Given the description of an element on the screen output the (x, y) to click on. 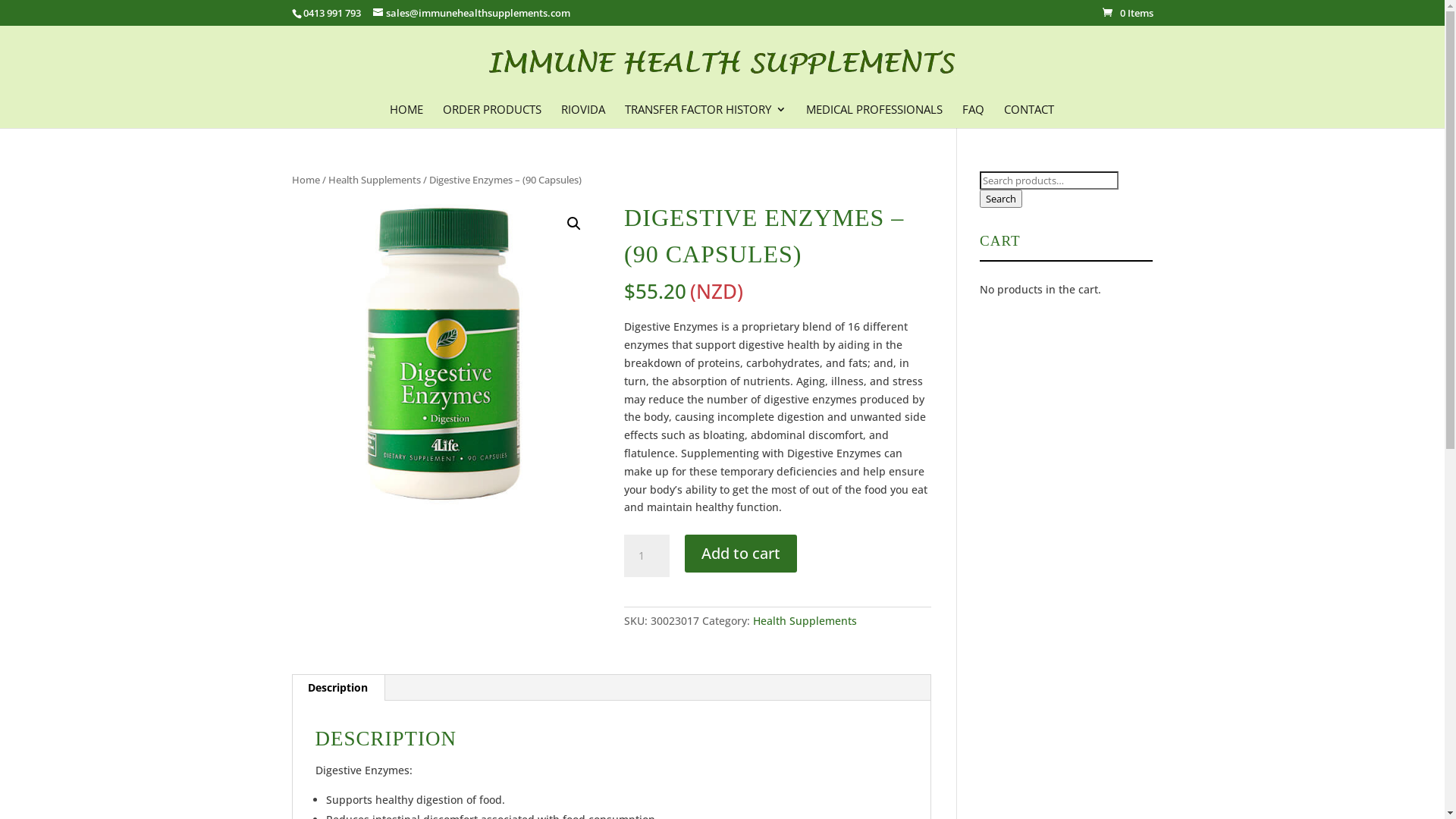
Health Supplements Element type: text (804, 620)
MEDICAL PROFESSIONALS Element type: text (873, 115)
ORDER PRODUCTS Element type: text (491, 115)
CONTACT Element type: text (1029, 115)
Search Element type: text (1000, 198)
HOME Element type: text (406, 115)
Add to cart Element type: text (740, 553)
FAQ Element type: text (972, 115)
0 Items Element type: text (1127, 12)
TRANSFER FACTOR HISTORY Element type: text (705, 115)
Health Supplements Element type: text (373, 179)
Description Element type: text (337, 687)
RIOVIDA Element type: text (583, 115)
sales@immunehealthsupplements.com Element type: text (471, 12)
Digestive Enzymes - 90 capsules Element type: hover (444, 352)
Home Element type: text (305, 179)
